Given the description of an element on the screen output the (x, y) to click on. 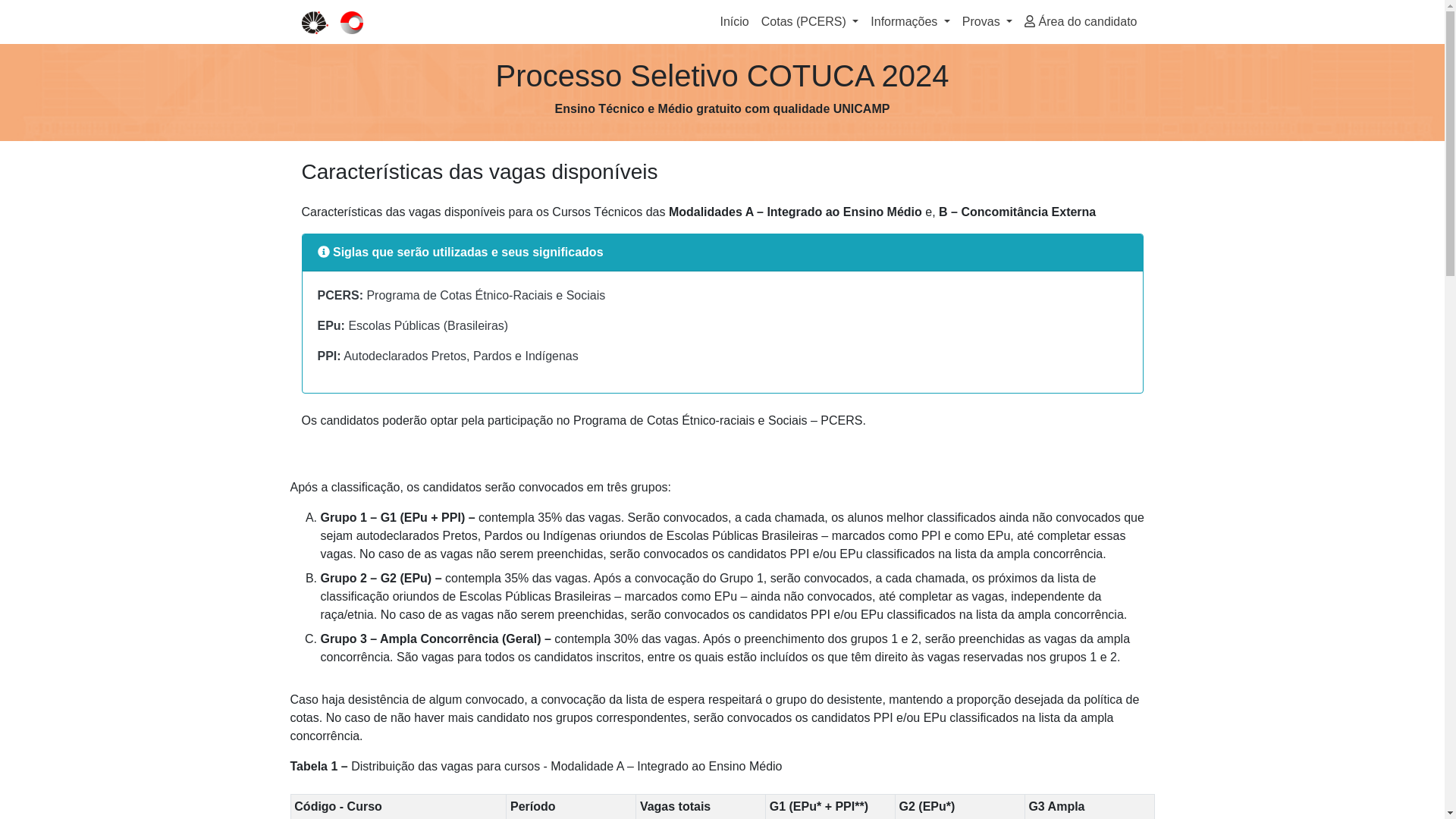
Univesidade Estadual de Campinas - UNICAMP Element type: hover (315, 22)
Cotas (PCERS) Element type: text (810, 21)
Provas Element type: text (987, 21)
